Given the description of an element on the screen output the (x, y) to click on. 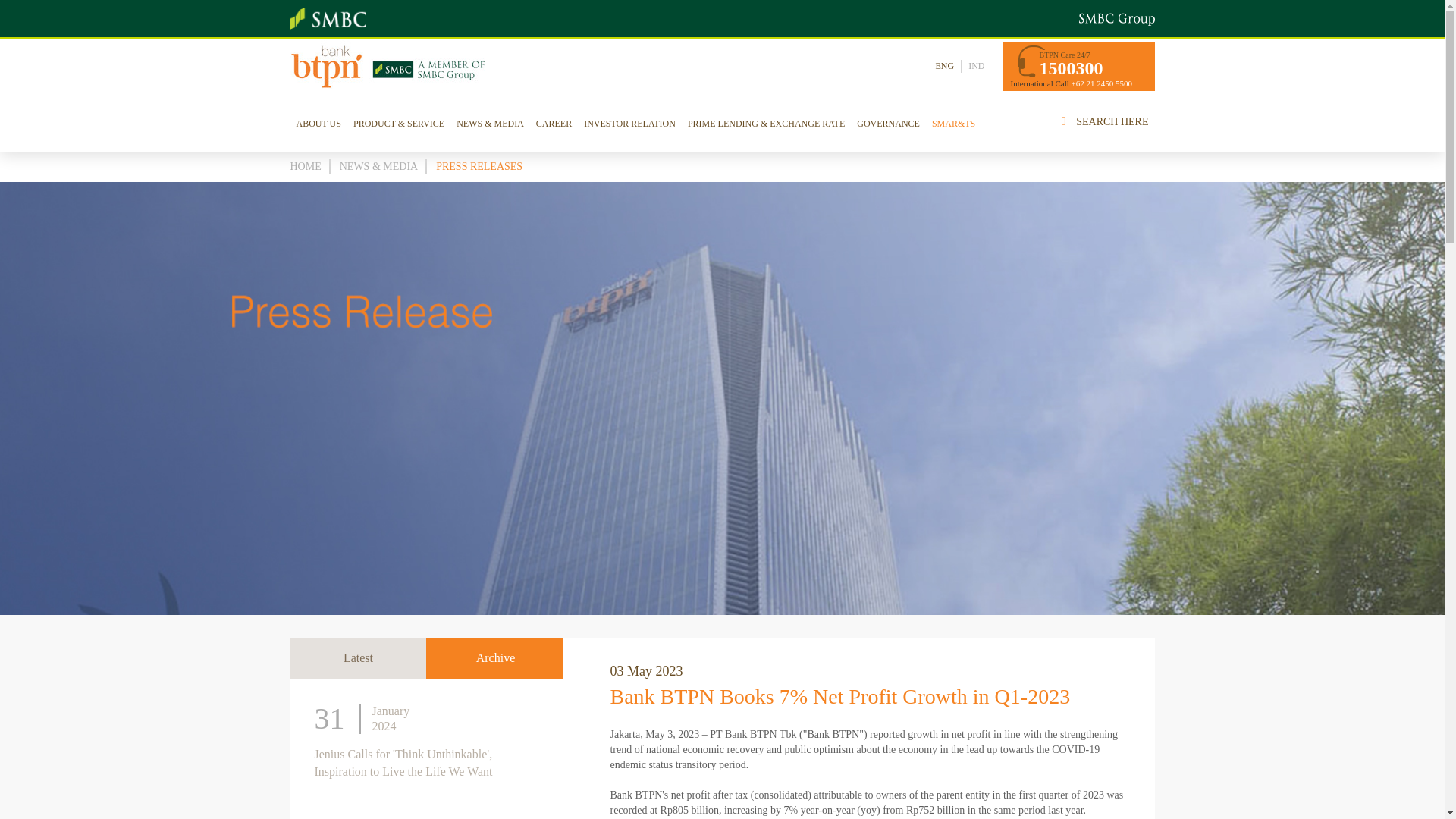
IND (976, 65)
ENG (945, 65)
ABOUT US (317, 123)
